Given the description of an element on the screen output the (x, y) to click on. 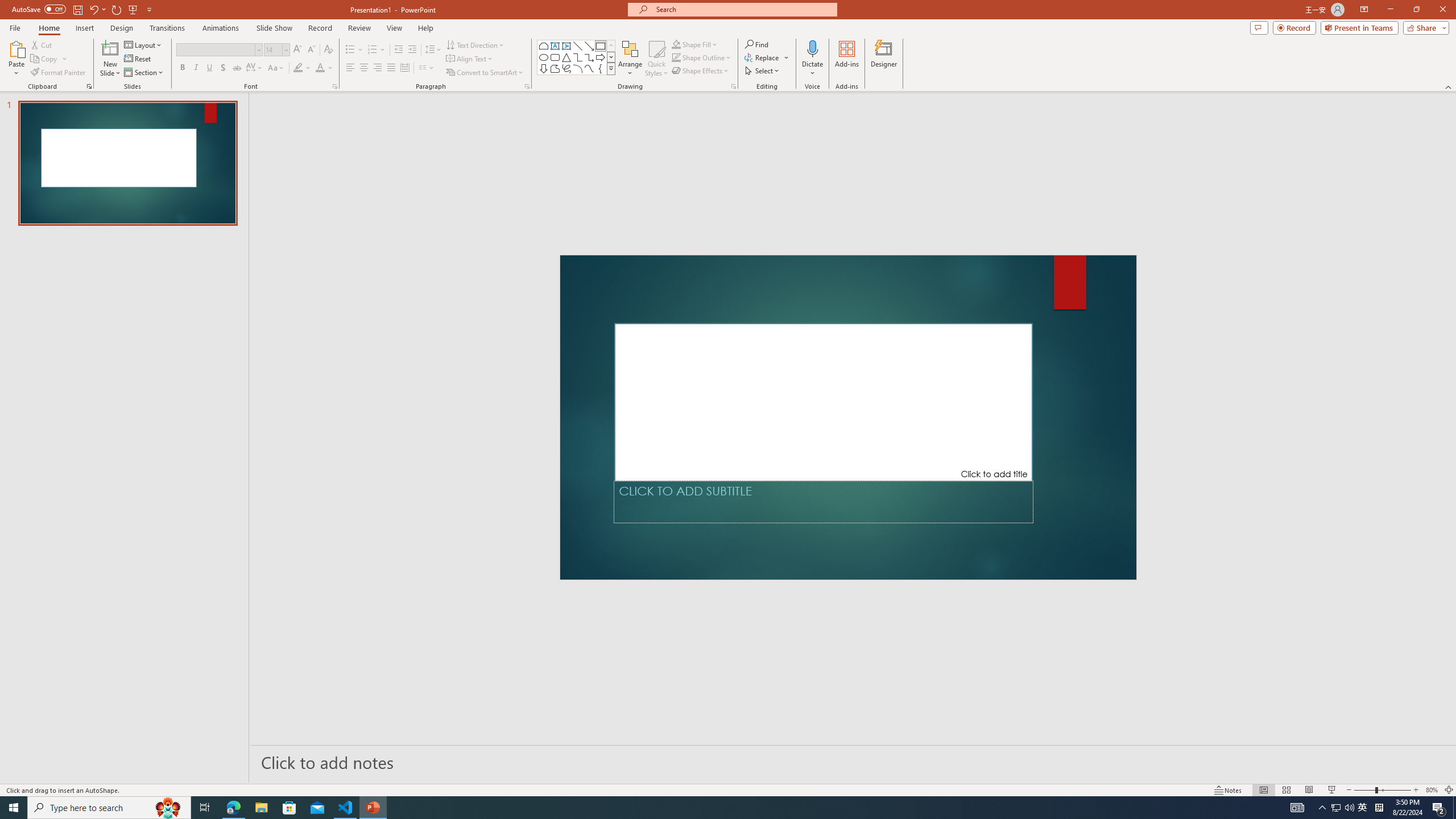
Rectangle: Top Corners Snipped (543, 45)
Shape Outline Blue, Accent 1 (675, 56)
